Given the description of an element on the screen output the (x, y) to click on. 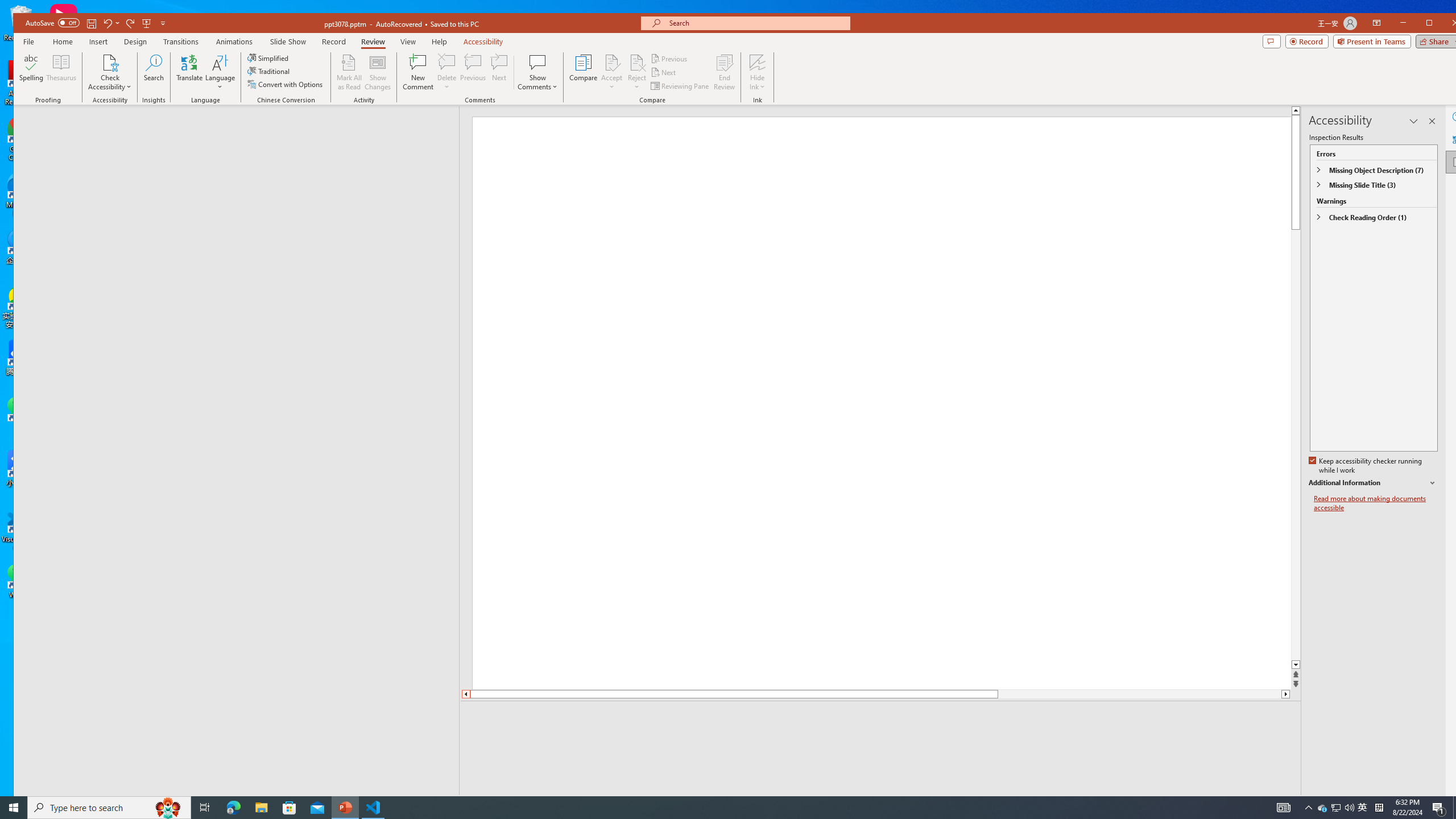
Thesaurus... (61, 72)
Check Accessibility (109, 72)
Read more about making documents accessible (1375, 502)
Show Comments (537, 61)
